Given the description of an element on the screen output the (x, y) to click on. 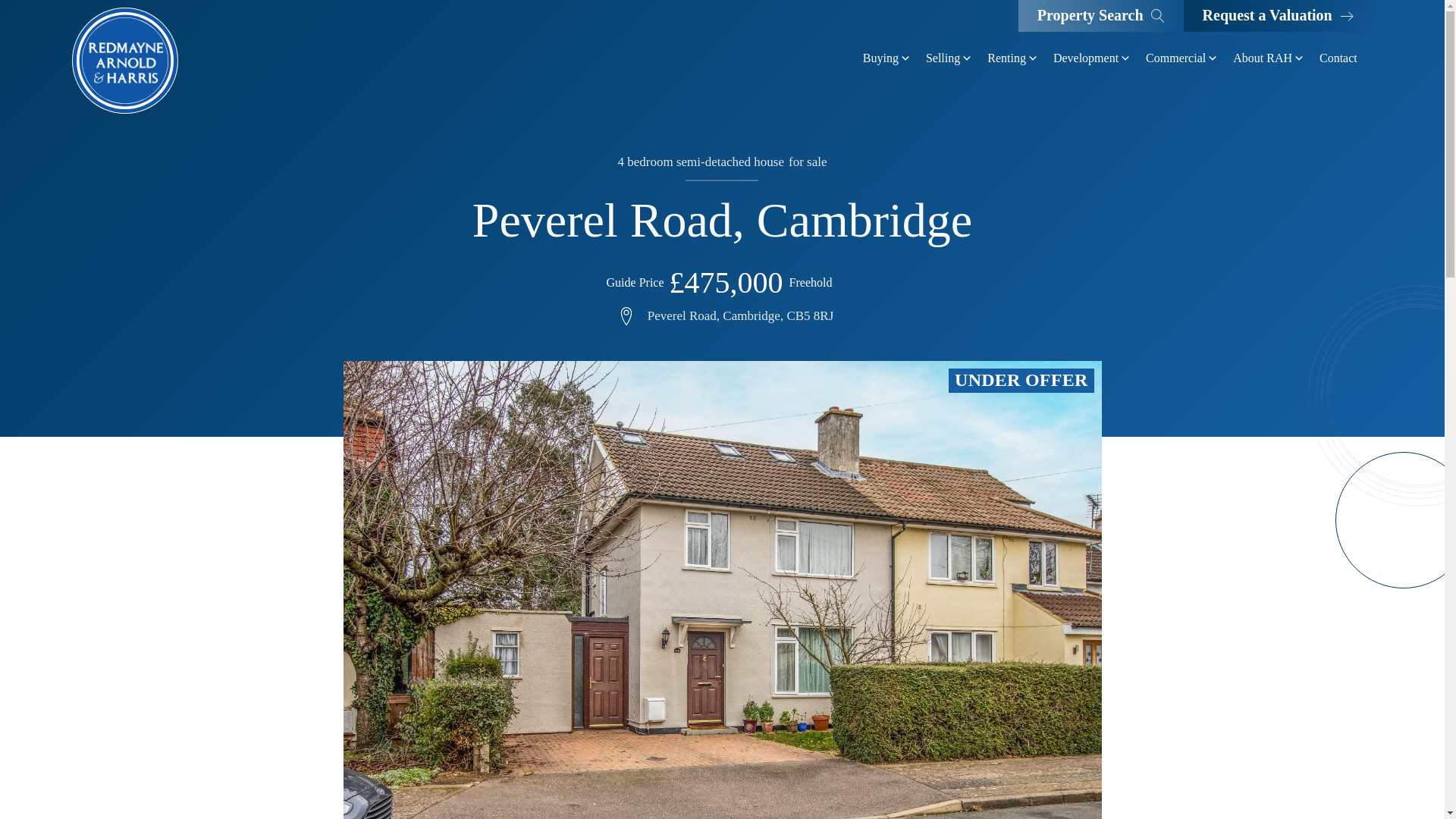
Property Search (1100, 15)
Commercial (1181, 58)
Request a Valuation (1278, 15)
About RAH (1268, 58)
Development (1091, 58)
Buying (887, 58)
Renting (1012, 58)
